Given the description of an element on the screen output the (x, y) to click on. 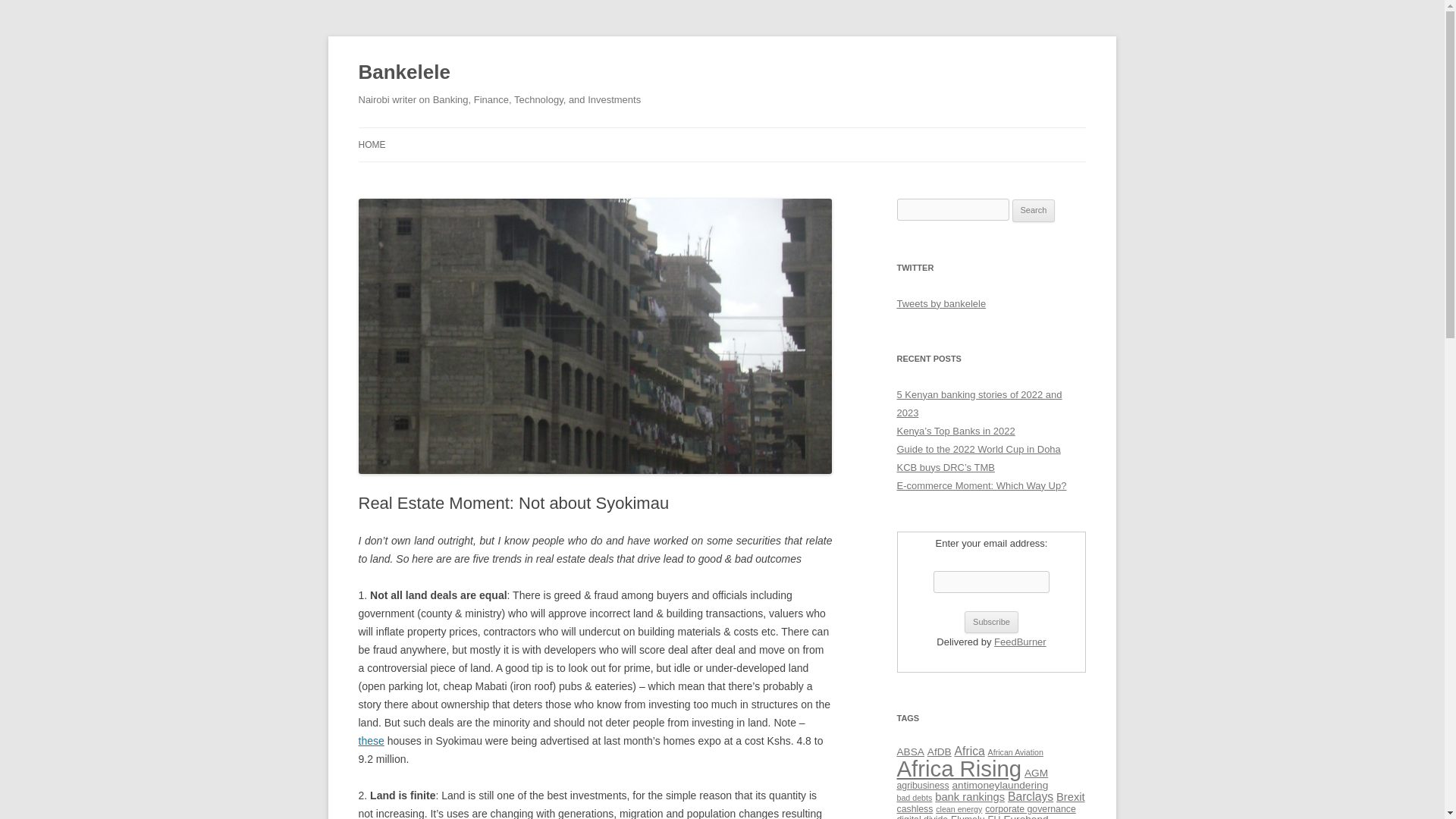
Guide to the 2022 World Cup in Doha (977, 449)
Bankelele (403, 72)
agribusiness (922, 785)
Tweets by bankelele (940, 303)
these (371, 740)
Subscribe (990, 621)
bad debts (913, 797)
Africa Rising (959, 768)
AfDB (939, 751)
